Given the description of an element on the screen output the (x, y) to click on. 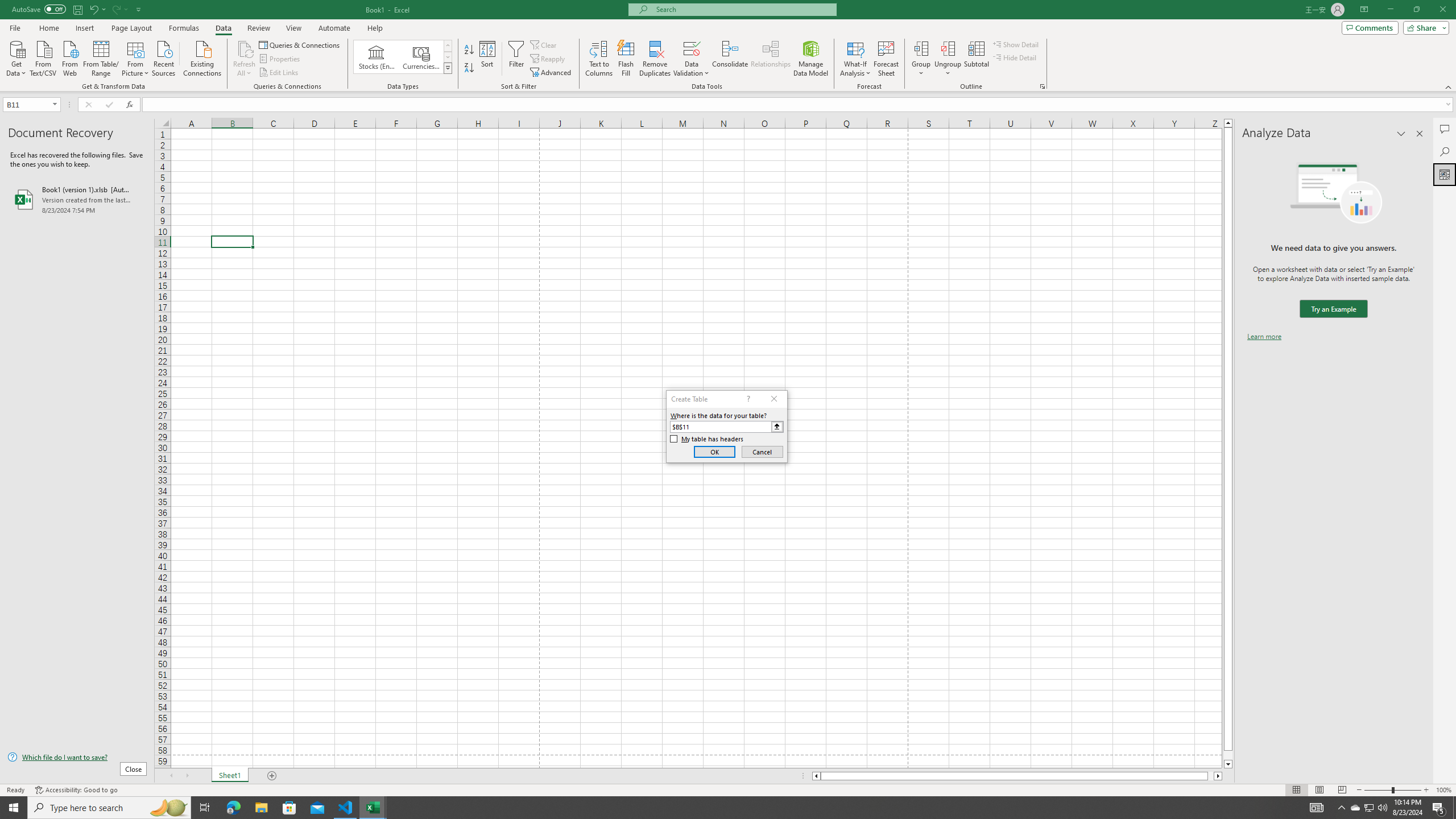
Search (1444, 151)
Manage Data Model (810, 58)
AutomationID: ConvertToLinkedEntity (403, 56)
From Picture (135, 57)
Currencies (English) (420, 56)
Stocks (English) (375, 56)
